Given the description of an element on the screen output the (x, y) to click on. 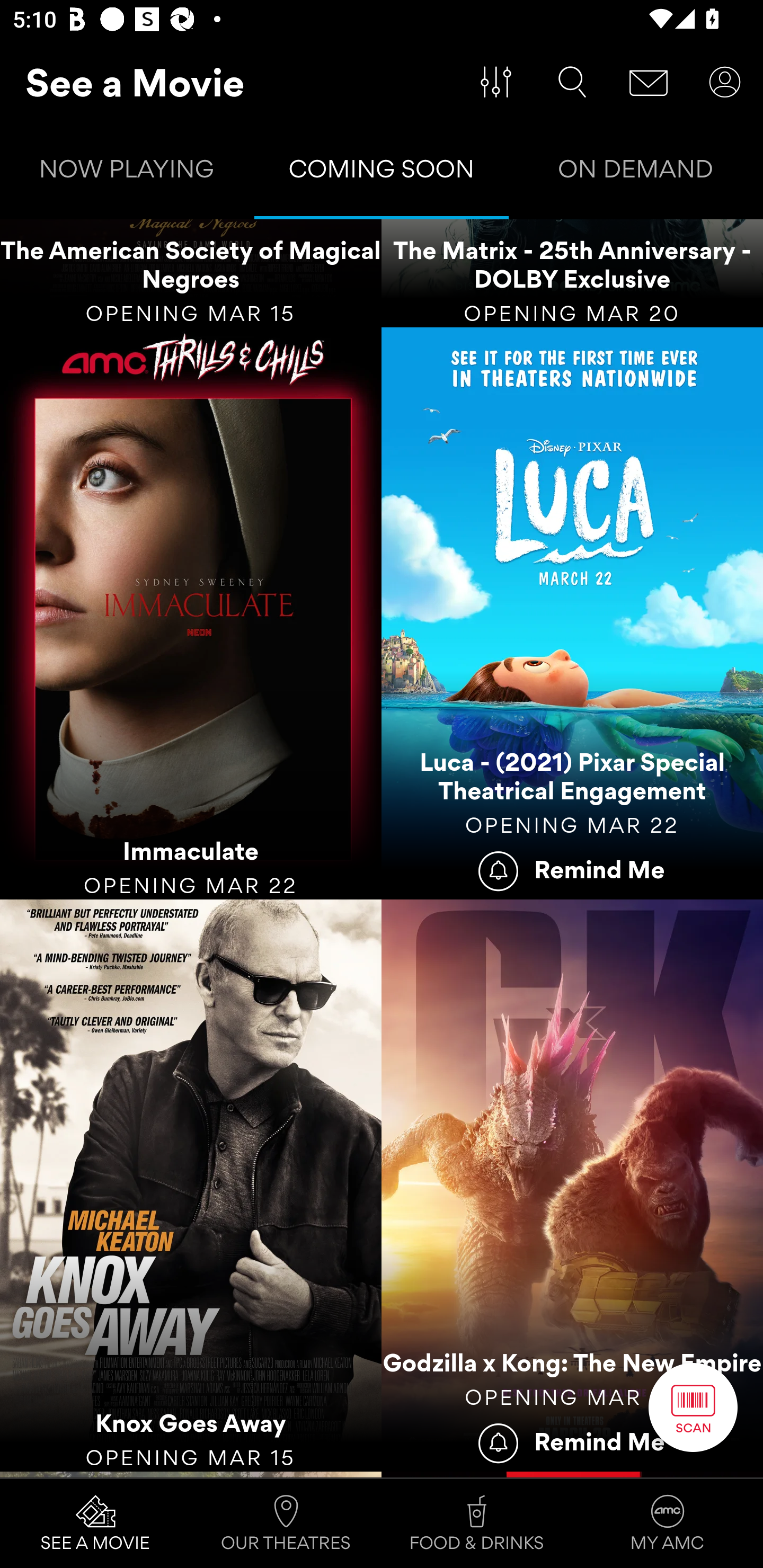
Filter Movies (495, 82)
Search (572, 82)
Message Center (648, 82)
User Account (724, 82)
NOW PLAYING
Tab 1 of 3 (127, 173)
COMING SOON
Tab 2 of 3 (381, 173)
ON DEMAND
Tab 3 of 3 (635, 173)
Immaculate
OPENING MAR 22 (190, 613)
Remind Me (572, 869)
Knox Goes Away
OPENING MAR 15 (190, 1186)
Scan Button (692, 1406)
SEE A MOVIE
Tab 1 of 4 (95, 1523)
OUR THEATRES
Tab 2 of 4 (285, 1523)
FOOD & DRINKS
Tab 3 of 4 (476, 1523)
MY AMC
Tab 4 of 4 (667, 1523)
